Given the description of an element on the screen output the (x, y) to click on. 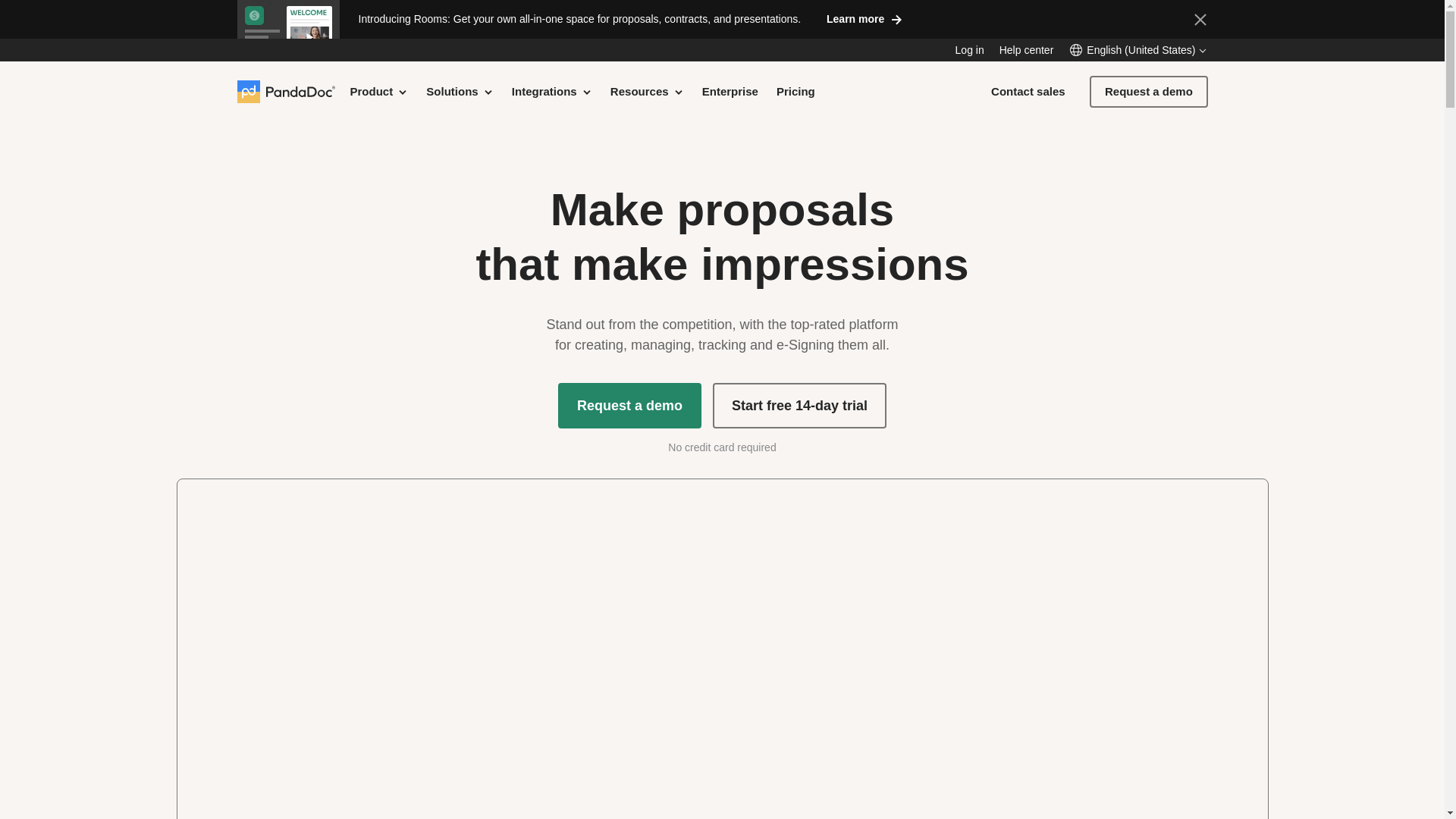
Log in (969, 50)
Solutions (459, 91)
Product (379, 91)
Learn more (864, 18)
Help center (1026, 50)
